Given the description of an element on the screen output the (x, y) to click on. 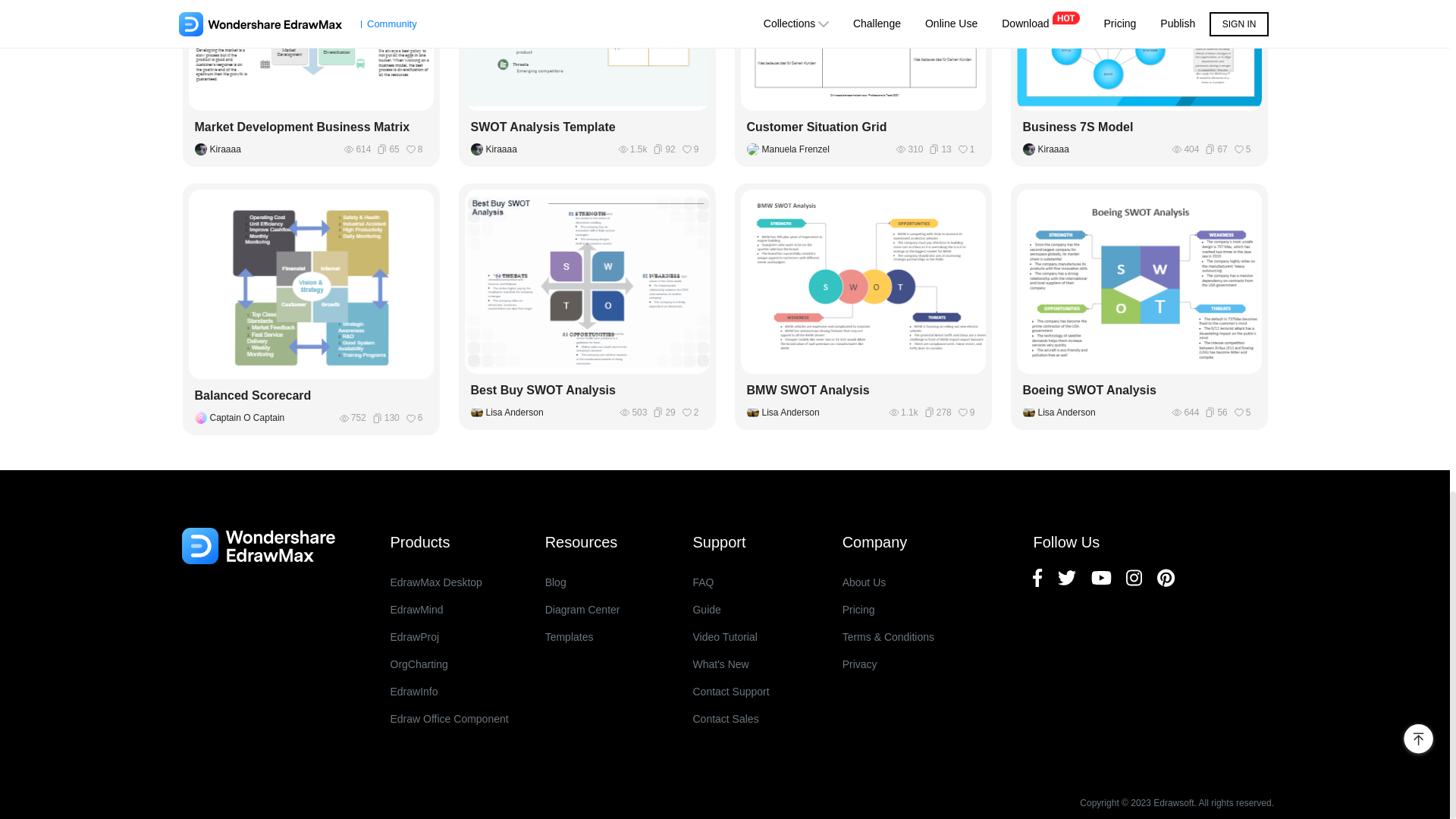
Balanced Scorecard (310, 395)
Market Development Business Matrix (310, 126)
Best Buy SWOT Analysis (587, 390)
Boeing SWOT Analysis (1139, 390)
Customer Situation Grid (862, 126)
SWOT Analysis Template (587, 126)
BMW SWOT Analysis (862, 390)
Business 7S Model (1139, 126)
